Given the description of an element on the screen output the (x, y) to click on. 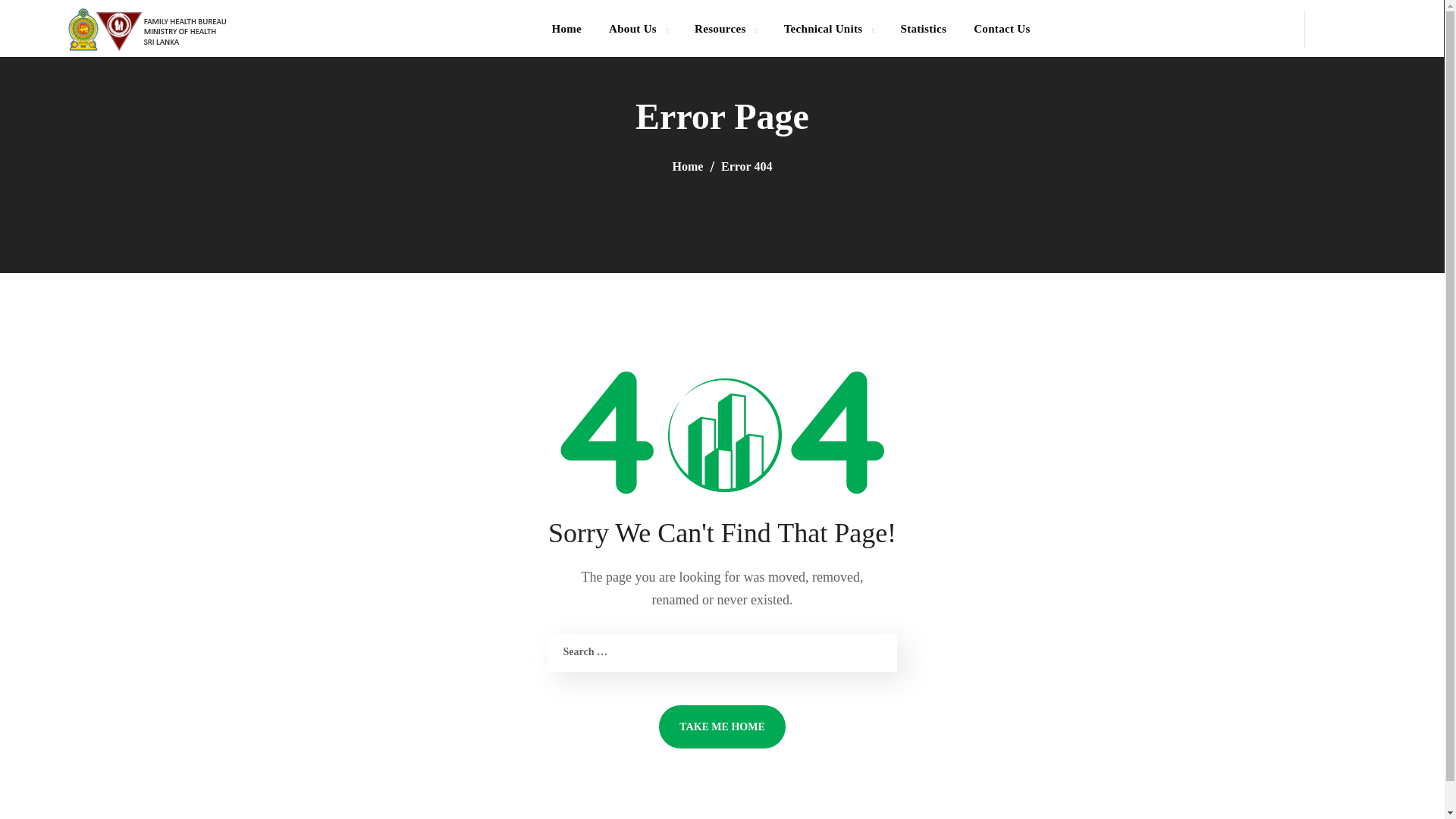
Statistics (922, 28)
Technical Units (828, 28)
About Us (638, 28)
Resources (725, 28)
Contact Us (1001, 28)
Search (1381, 94)
FHBlogo11 (146, 28)
Home (566, 28)
